Given the description of an element on the screen output the (x, y) to click on. 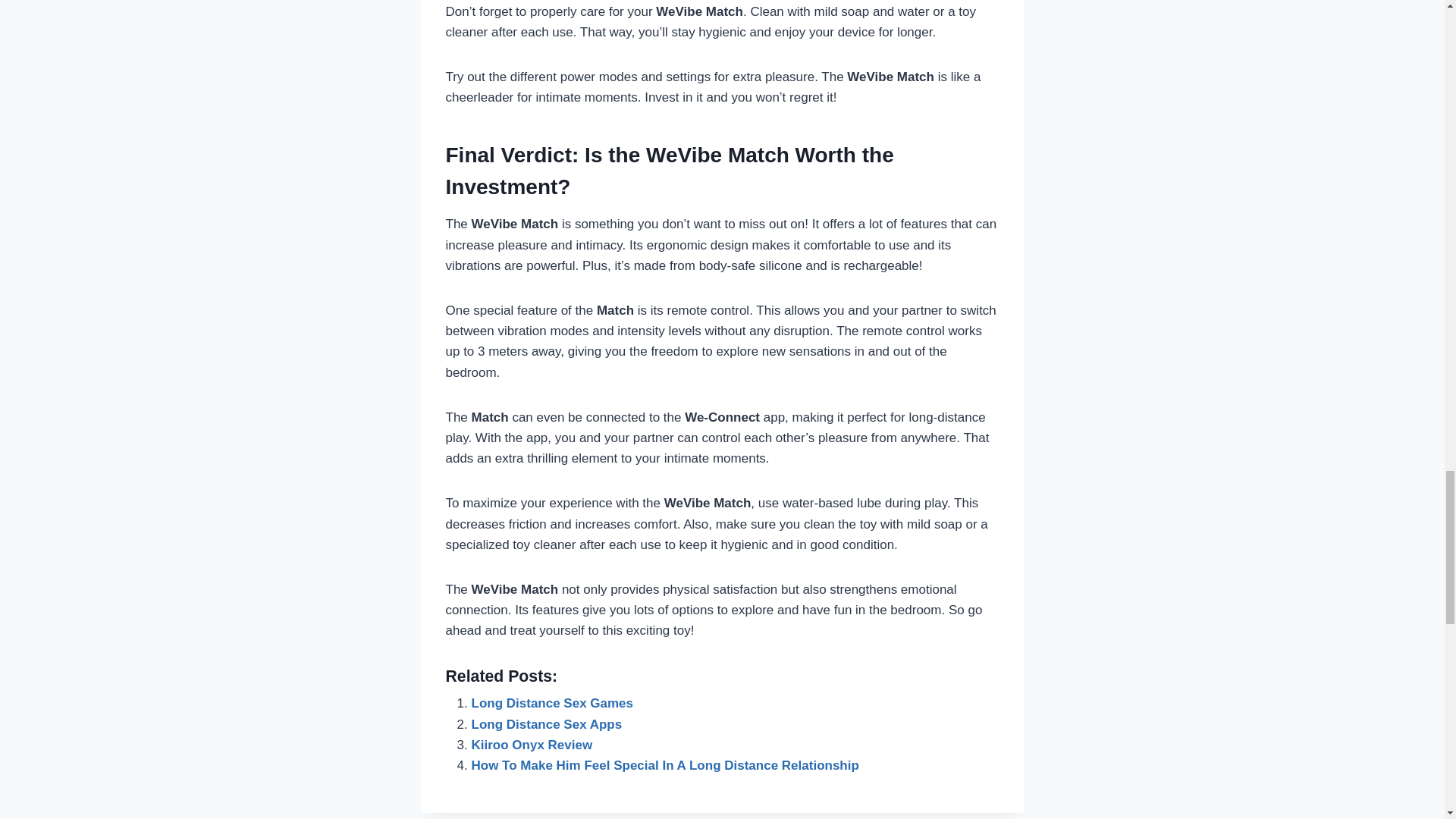
Long Distance Sex Games (552, 703)
Kiiroo Onyx Review (531, 744)
Kiiroo Onyx  Review (531, 744)
Long Distance Sex Apps (547, 724)
How To Make Him Feel Special In A Long Distance Relationship (665, 765)
Long Distance Sex Games (552, 703)
How To Make Him Feel Special In A Long Distance Relationship (665, 765)
Long Distance Sex Apps (547, 724)
